Given the description of an element on the screen output the (x, y) to click on. 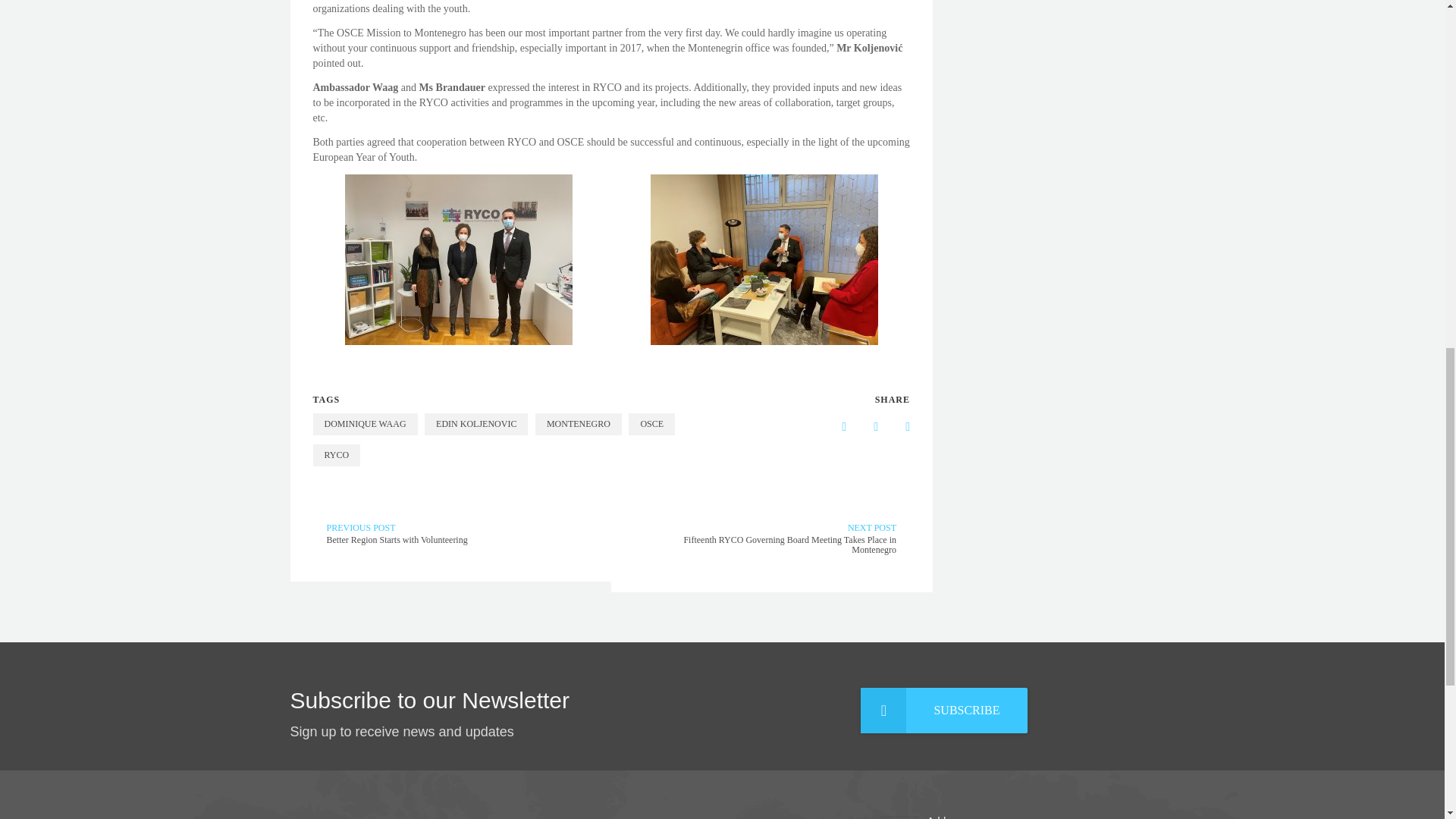
Share on LinkedIn (863, 426)
Share on Facebook (831, 426)
Tweet (896, 426)
